Given the description of an element on the screen output the (x, y) to click on. 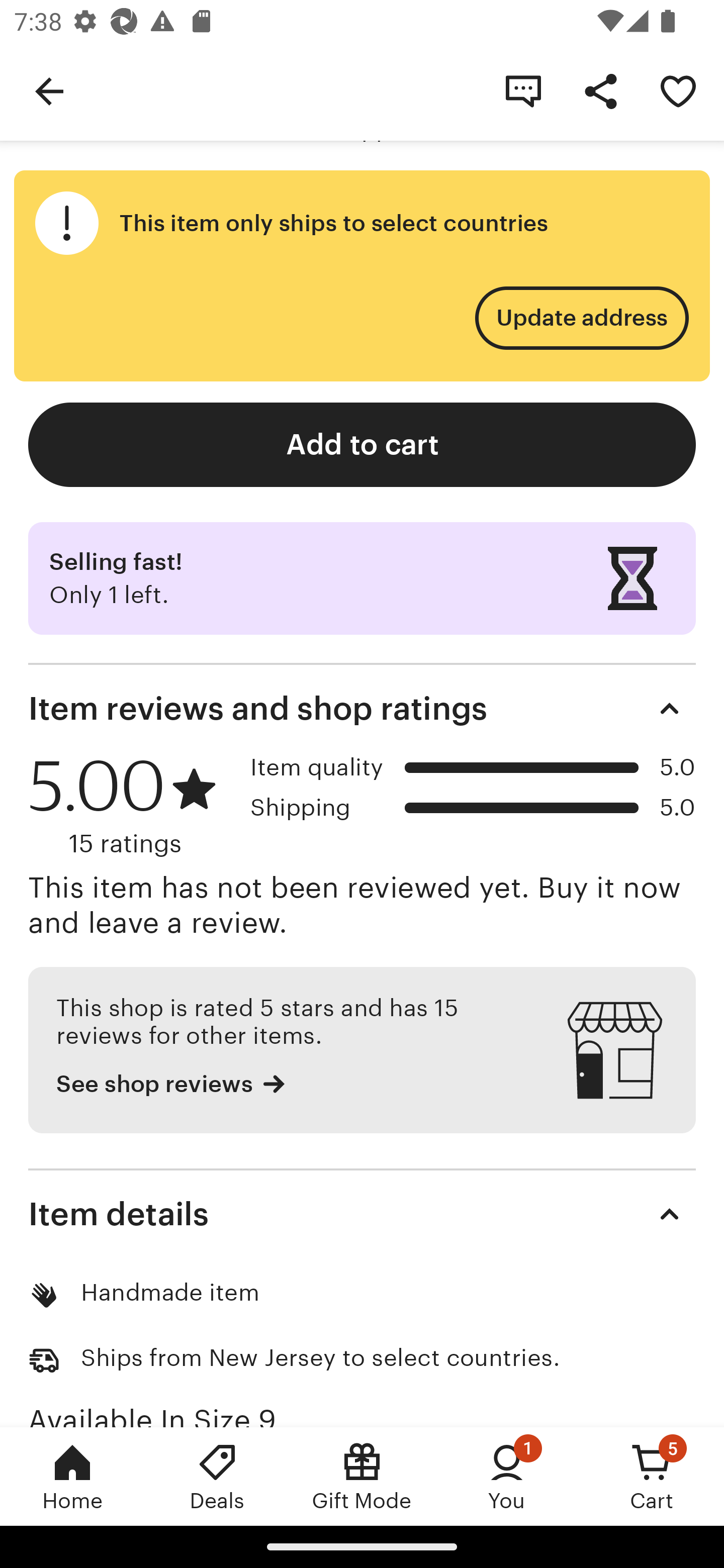
Navigate up (49, 90)
Contact shop (523, 90)
Share (600, 90)
Remove Katrina Peep Toe-Red from your favorites (678, 90)
Update address (581, 317)
Add to cart (361, 444)
Item reviews and shop ratings (362, 708)
5.00 15 ratings (132, 805)
Item quality 100.0 5.0 Shipping 100.0 5.0 (472, 794)
Item details (362, 1214)
Deals (216, 1475)
Gift Mode (361, 1475)
You, 1 new notification You (506, 1475)
Cart, 5 new notifications Cart (651, 1475)
